Given the description of an element on the screen output the (x, y) to click on. 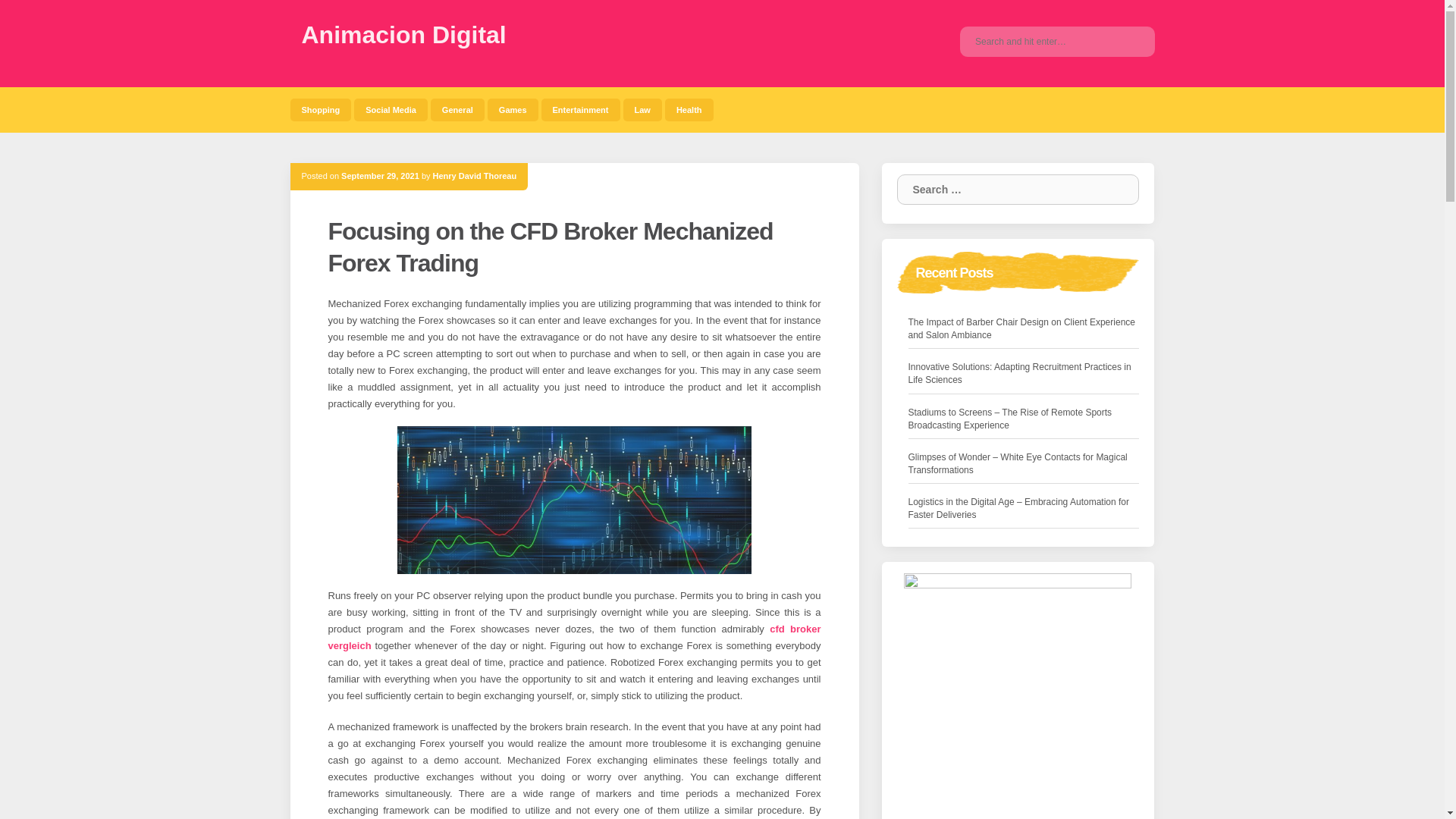
cfd broker vergleich (574, 637)
Health (689, 109)
Shopping (319, 109)
Law (642, 109)
Games (512, 109)
General (457, 109)
Law (642, 109)
Henry David Thoreau (474, 175)
Search (1115, 189)
Entertainment (580, 109)
Shopping (319, 109)
Social Media (390, 109)
September 29, 2021 (379, 175)
Search (1115, 189)
Search (1115, 189)
